Given the description of an element on the screen output the (x, y) to click on. 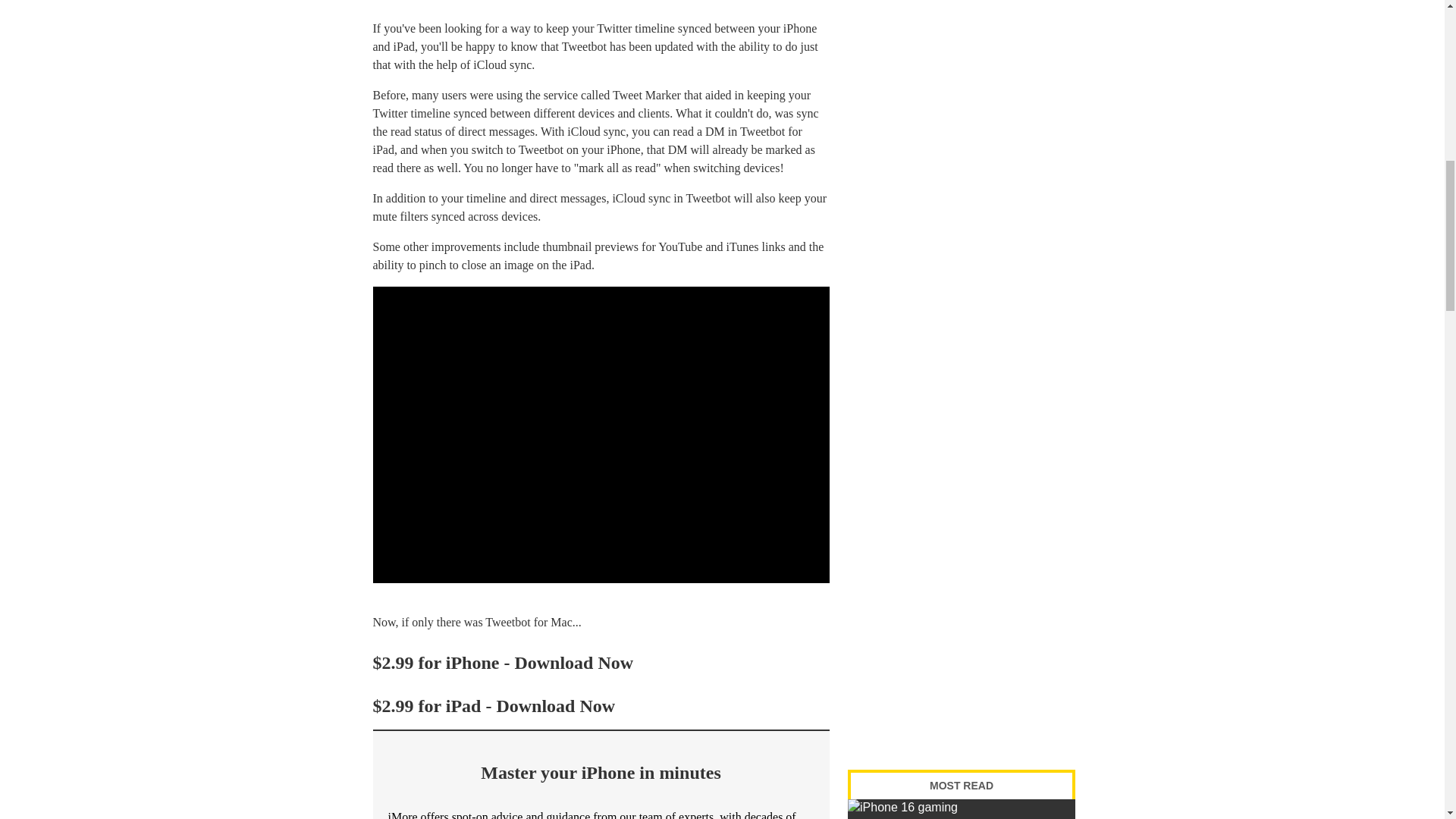
Every mobile gaming upgrade coming with iPhone 16 so far (961, 809)
